Given the description of an element on the screen output the (x, y) to click on. 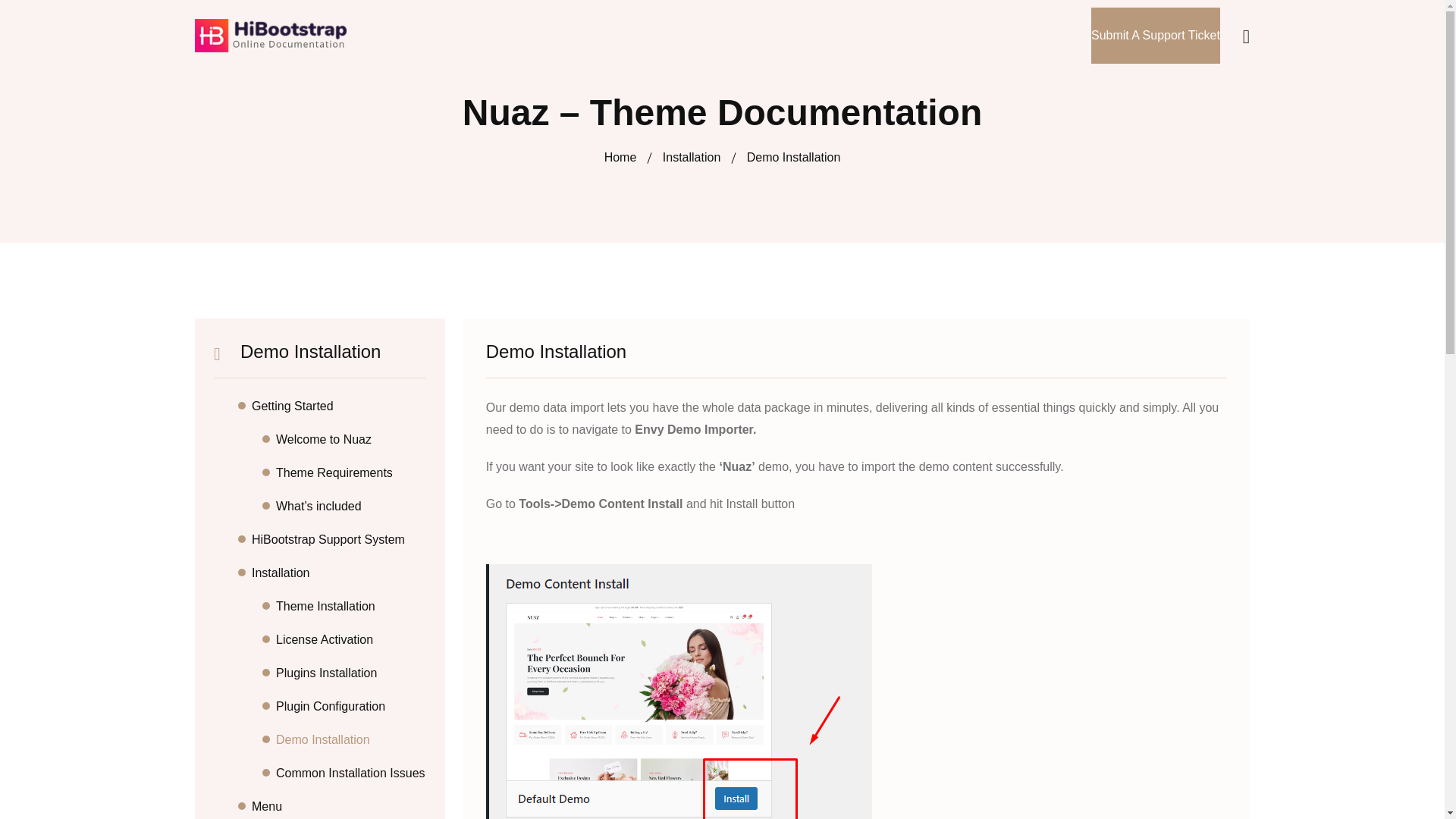
Common Installation Issues (351, 773)
License Activation (351, 639)
Menu (338, 806)
Submit A Support Ticket (1155, 35)
Installation (338, 573)
Submit A Support Ticket (1155, 35)
HiBootstrap Support System (338, 539)
Demo Installation (351, 740)
Theme Installation (351, 606)
Getting Started (338, 406)
